Given the description of an element on the screen output the (x, y) to click on. 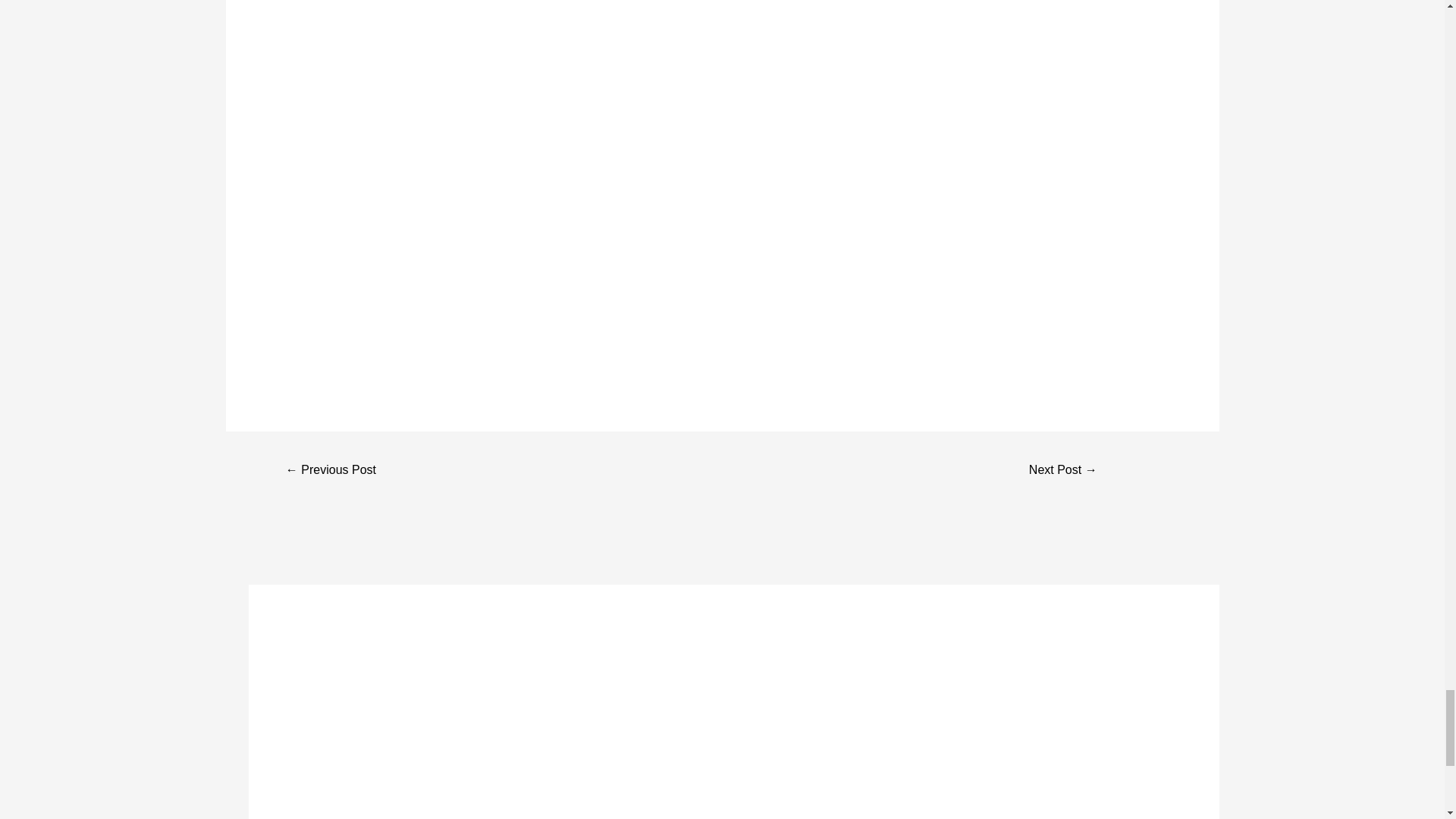
Advertisement (387, 708)
Diamond District NYC: Everything You Need to Know (330, 471)
Tension Settings: Unravelling The Right Kind of Tension (1062, 471)
